Given the description of an element on the screen output the (x, y) to click on. 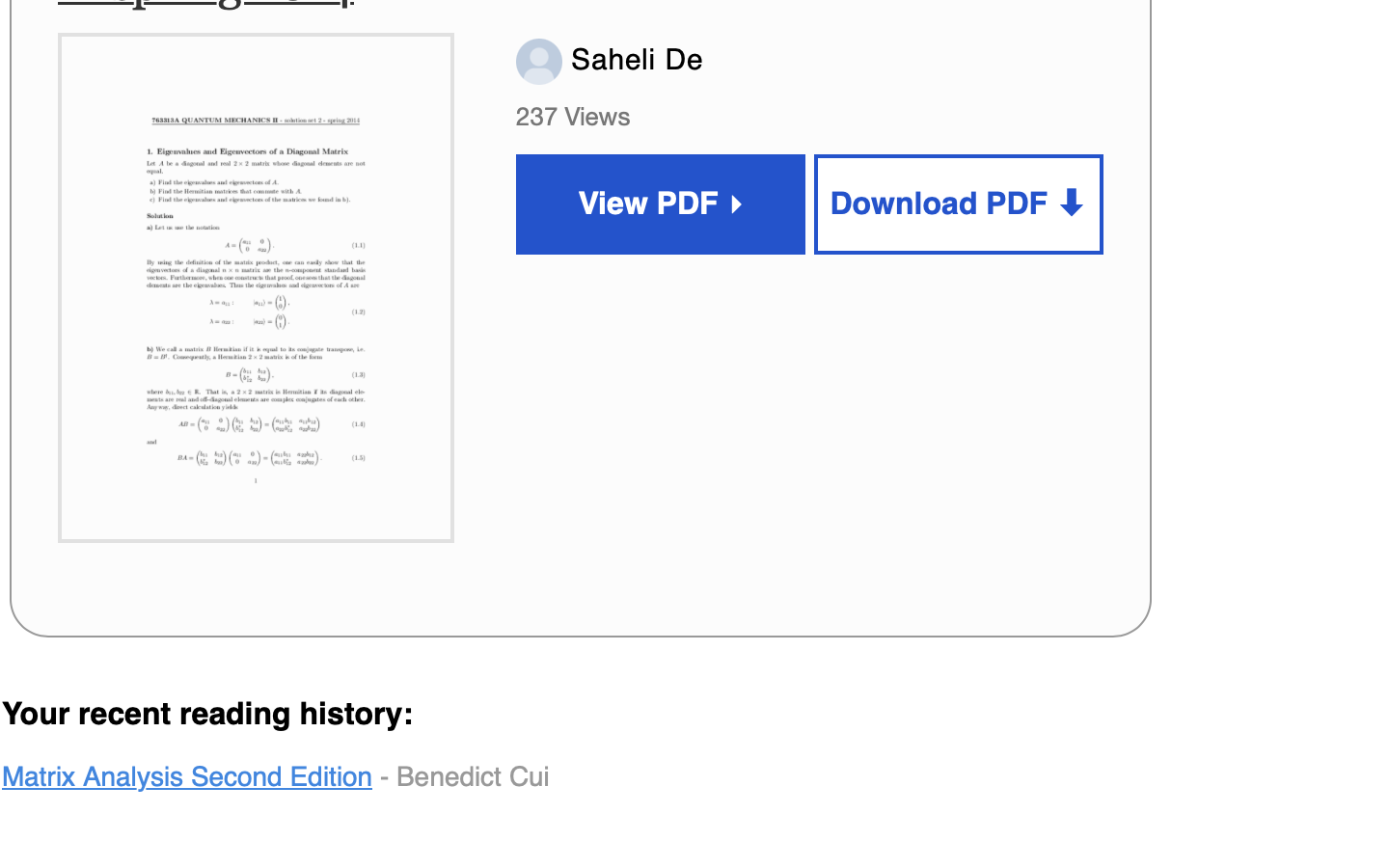
- Benedict Cui Element type: AXStaticText (461, 775)
Saheli De Element type: AXStaticText (632, 58)
Your recent reading history: Element type: AXStaticText (207, 714)
View PDF ▸ Element type: AXStaticText (660, 204)
Matrix Analysis Second Edition Element type: AXStaticText (187, 775)
